Given the description of an element on the screen output the (x, y) to click on. 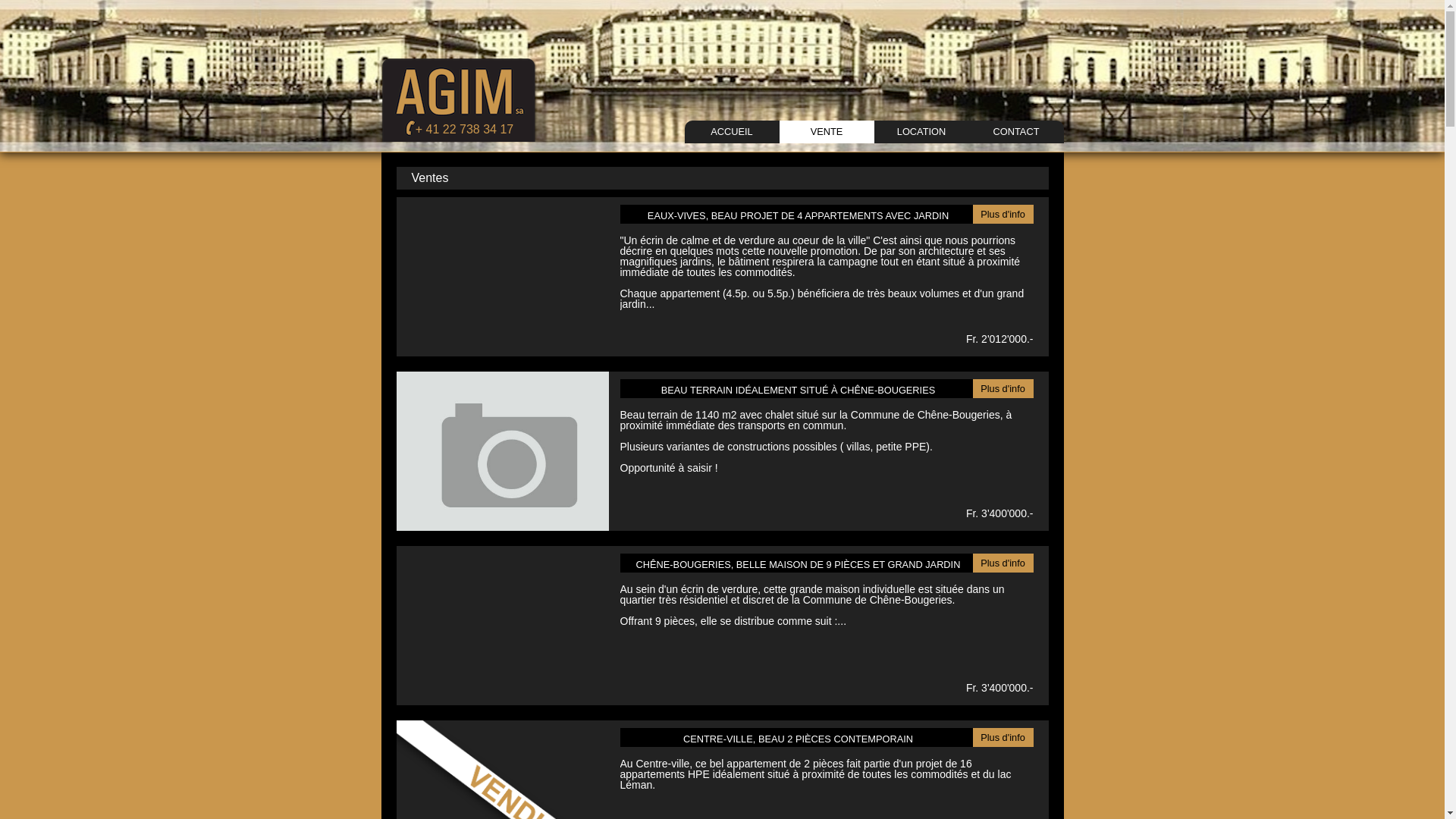
CONTACT Element type: text (1016, 131)
Plus d'info Element type: text (1002, 562)
LOCATION Element type: text (920, 131)
Plus d'info Element type: text (1002, 388)
VENTE Element type: text (826, 131)
Plus d'info Element type: text (1002, 213)
ACCUEIL Element type: text (731, 131)
Plus d'info Element type: text (1002, 737)
